Given the description of an element on the screen output the (x, y) to click on. 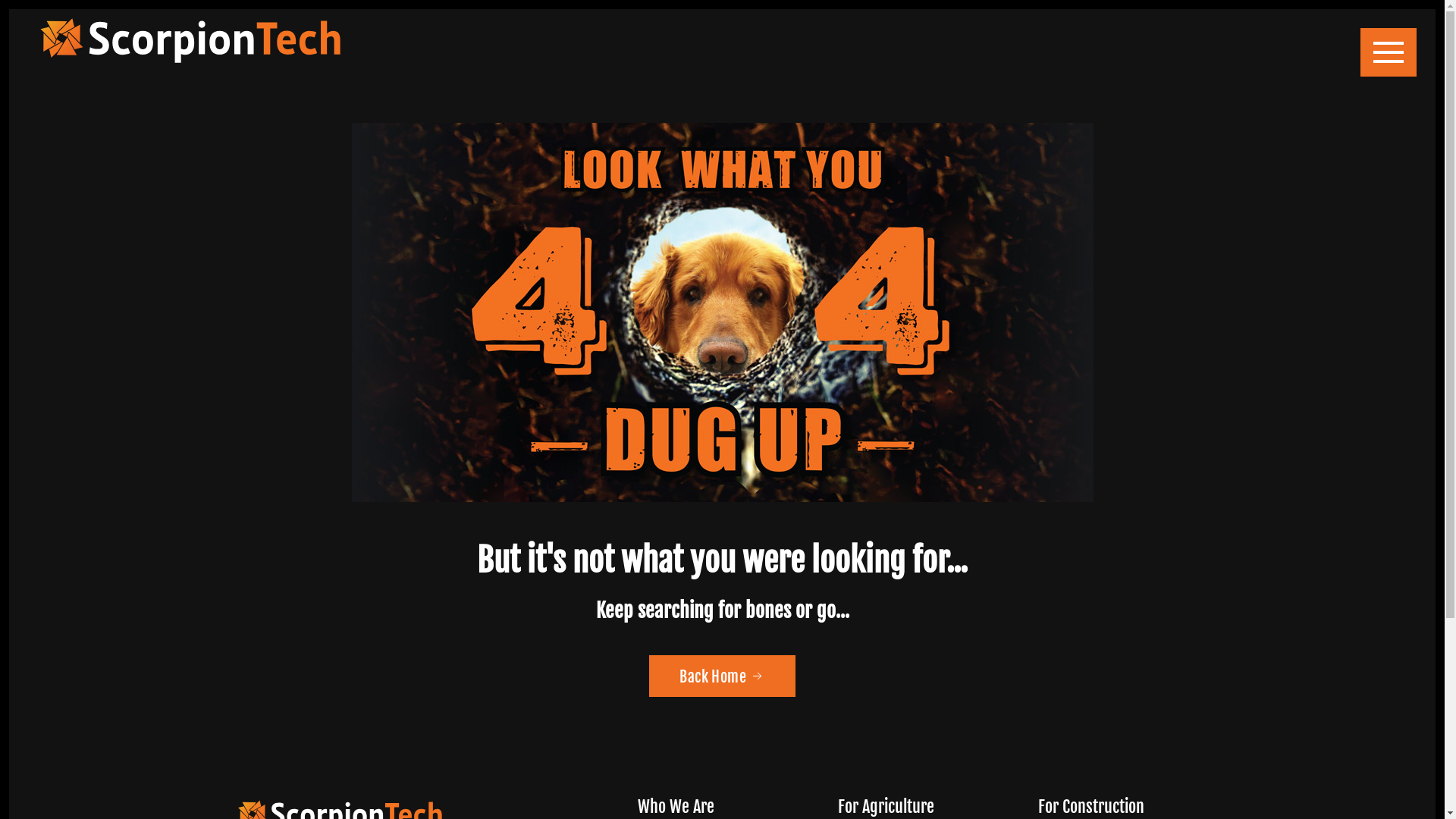
For Agriculture Element type: text (885, 806)
For Construction Element type: text (1090, 806)
Who We Are Element type: text (675, 806)
Back Home Element type: text (721, 676)
